Given the description of an element on the screen output the (x, y) to click on. 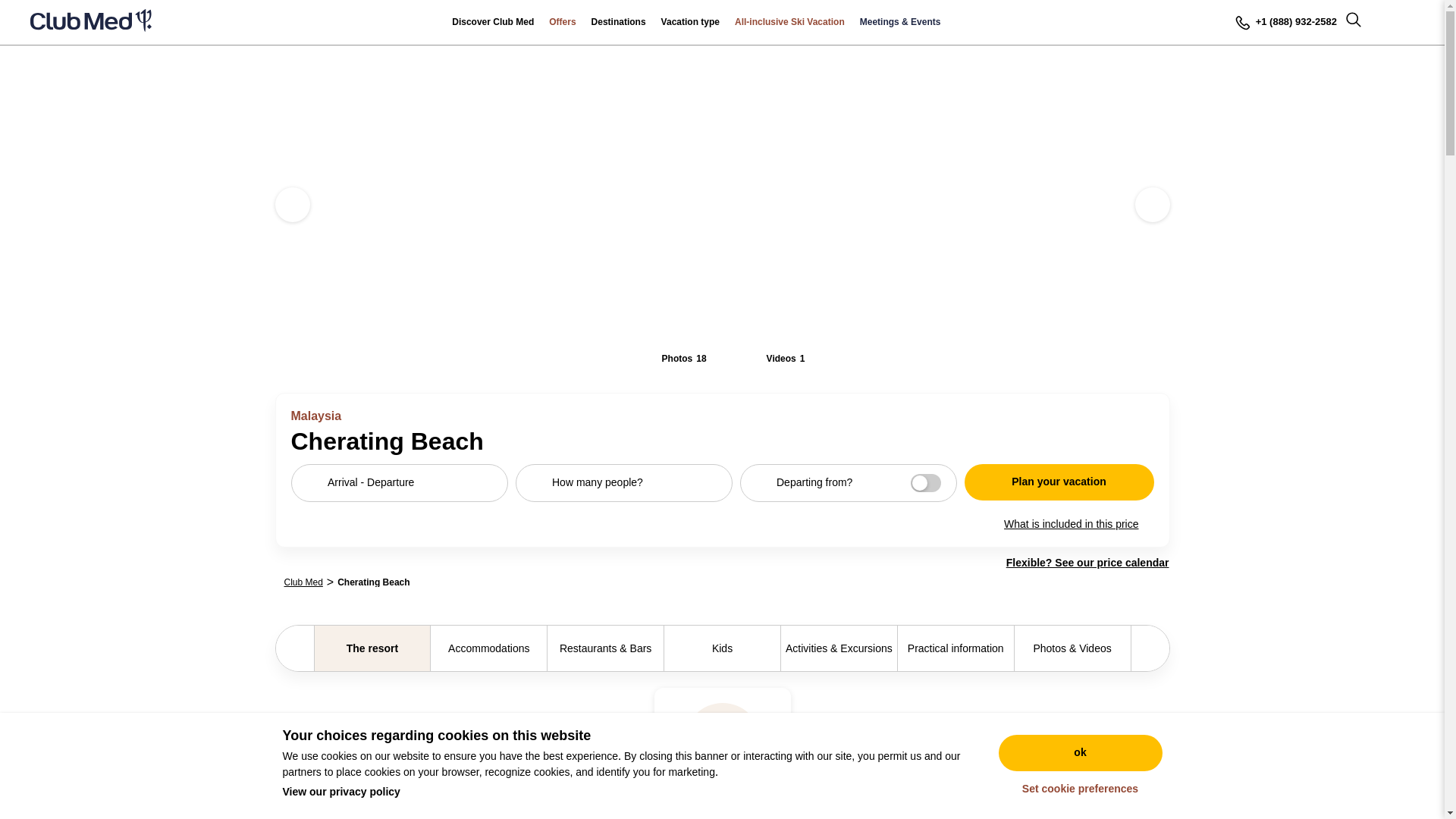
Club Med Homepage (90, 22)
Offers (562, 22)
Destinations (618, 22)
Discover Club Med (492, 22)
Your Club Med Advisor (1284, 22)
Club Med Homepage (90, 22)
